Given the description of an element on the screen output the (x, y) to click on. 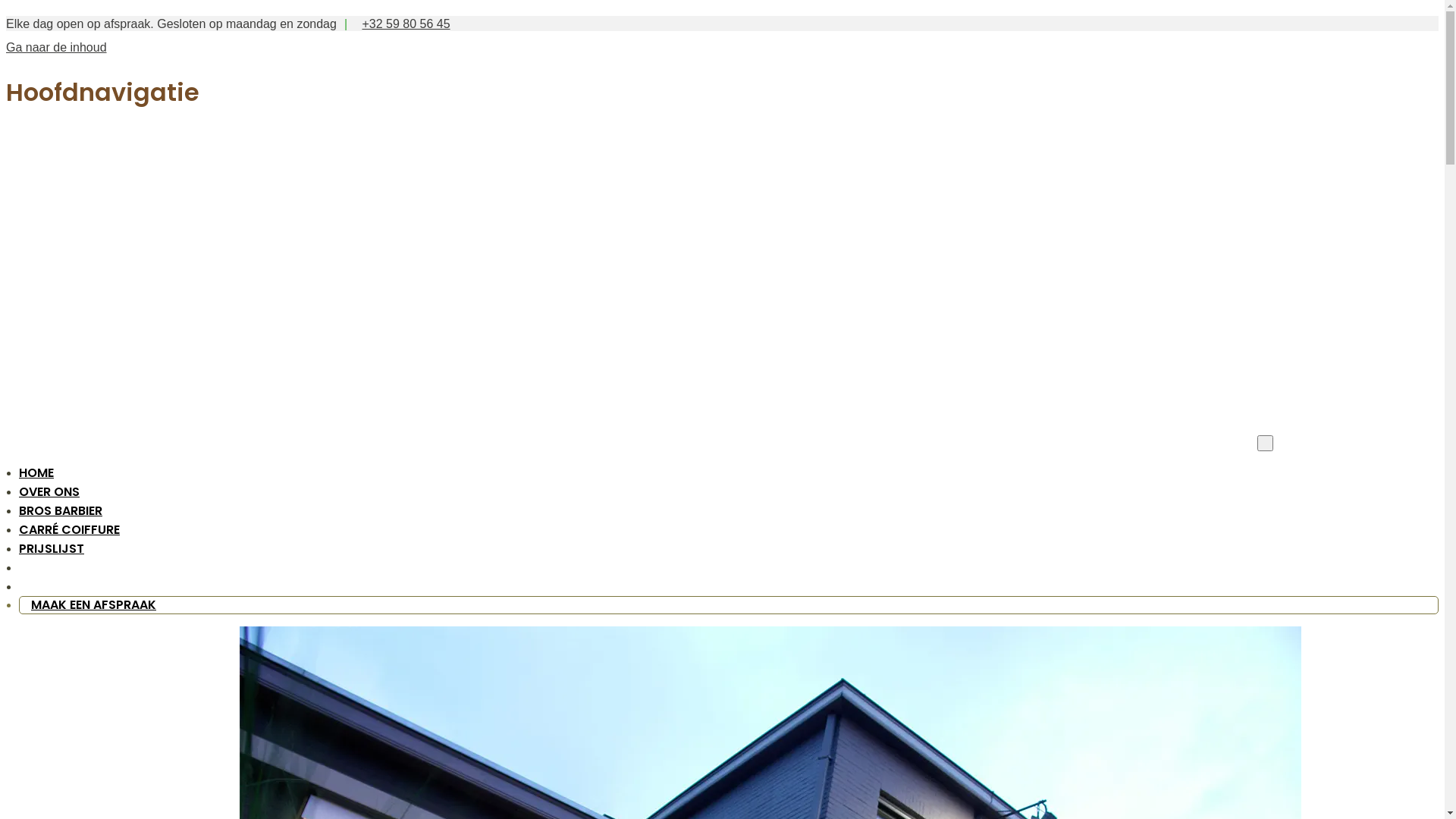
PRIJSLIJST Element type: text (51, 548)
+32 59 80 56 45 Element type: text (403, 23)
OVER ONS Element type: text (48, 491)
BROS BARBIER Element type: text (60, 510)
HOME Element type: text (35, 472)
MAAK EEN AFSPRAAK Element type: text (93, 604)
Ga naar de inhoud Element type: text (56, 46)
Elke dag open op afspraak. Gesloten op maandag en zondag Element type: text (171, 23)
